Given the description of an element on the screen output the (x, y) to click on. 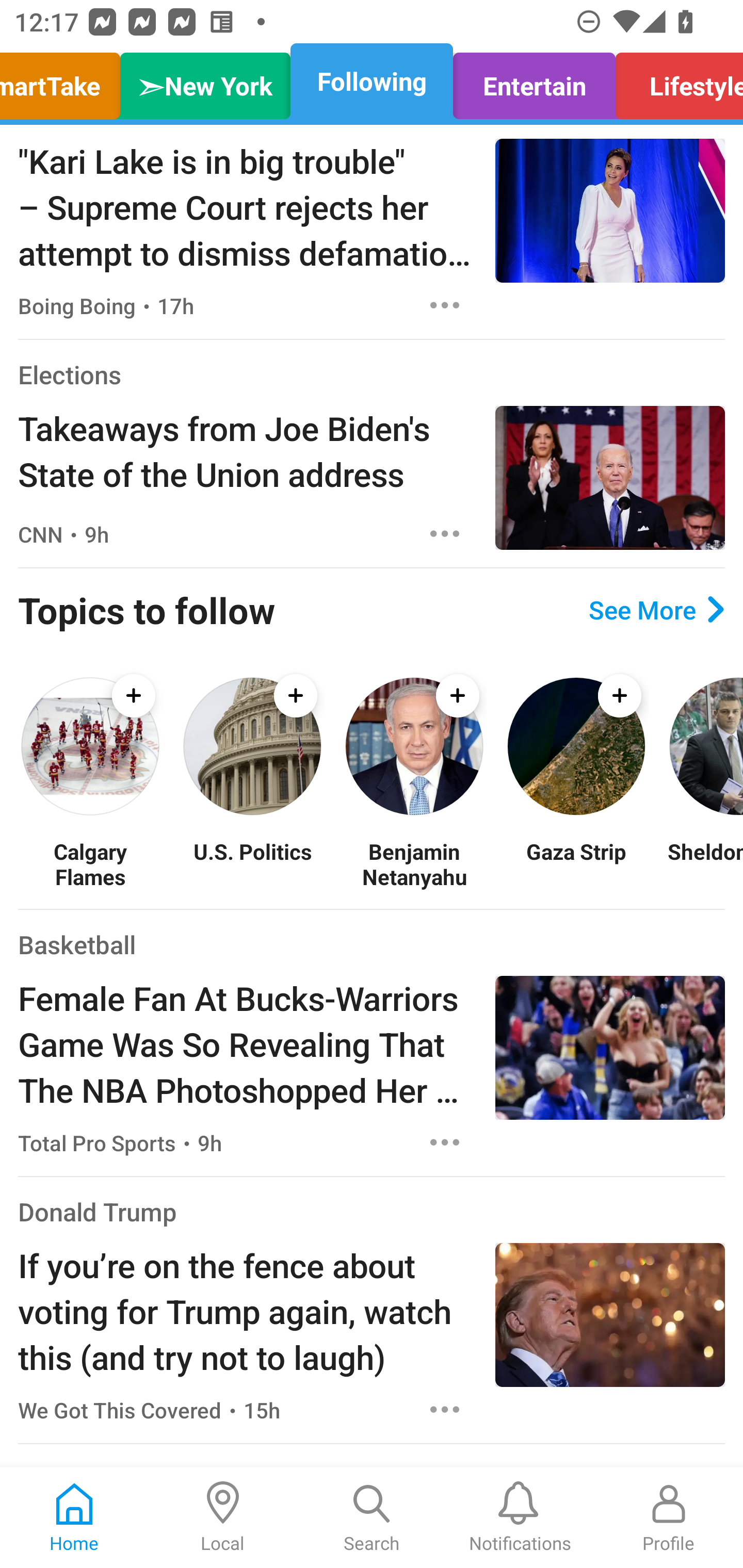
SmartTake (65, 81)
➣New York (205, 81)
Following (371, 81)
Entertain (534, 81)
Options (444, 305)
Elections (69, 374)
Options (444, 533)
See More (656, 609)
Calgary Flames (89, 863)
U.S. Politics (251, 863)
Benjamin Netanyahu (413, 863)
Gaza Strip (575, 863)
Basketball (76, 943)
Options (444, 1142)
Donald Trump (97, 1211)
Options (444, 1409)
Local (222, 1517)
Search (371, 1517)
Notifications (519, 1517)
Profile (668, 1517)
